Given the description of an element on the screen output the (x, y) to click on. 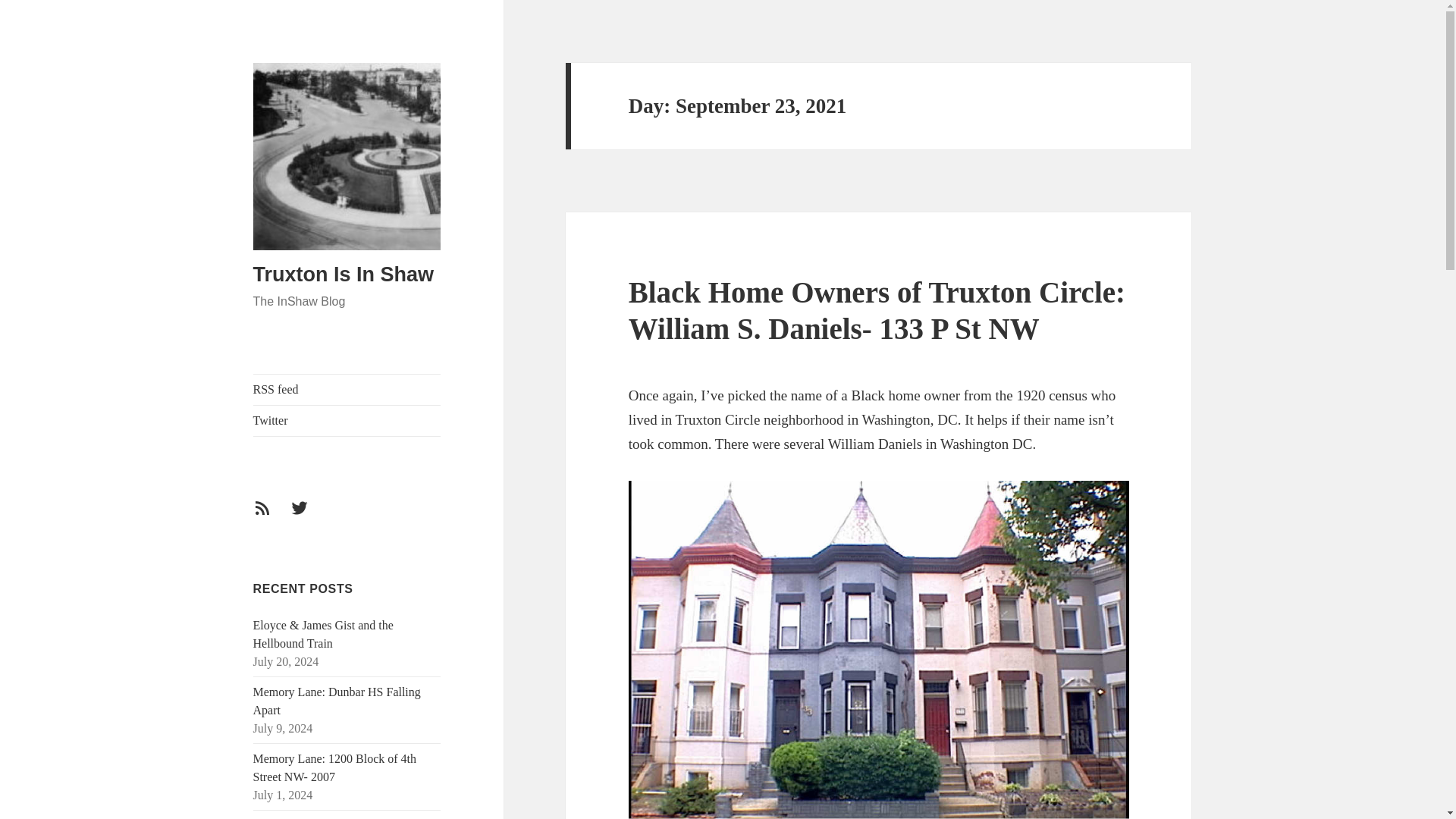
RSS feed (271, 516)
RSS feed (347, 389)
Memory Lane: Dunbar HS Falling Apart (336, 700)
Twitter (307, 516)
Twitter (347, 420)
Truxton Is In Shaw (343, 273)
Memory Lane: 1200 Block of 4th Street NW- 2007 (334, 767)
Twitter for InShaw (307, 516)
Twitter for InShaw (347, 420)
